Given the description of an element on the screen output the (x, y) to click on. 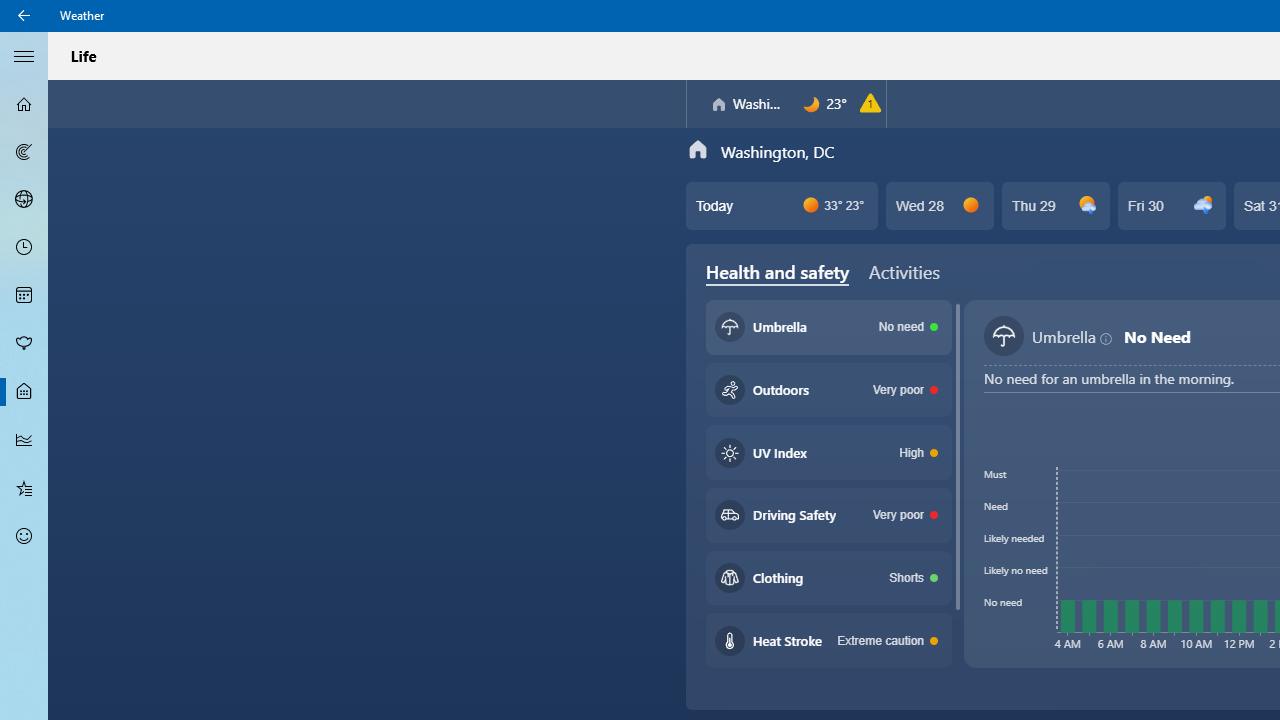
Life - Not Selected (24, 391)
Historical Weather - Not Selected (24, 439)
Favorites - Not Selected (24, 487)
Hourly Forecast - Not Selected (24, 247)
Pollen - Not Selected (24, 343)
Forecast - Not Selected (24, 103)
Pollen - Not Selected (24, 343)
Send Feedback - Not Selected (24, 535)
Collapse Navigation (24, 55)
Monthly Forecast - Not Selected (24, 295)
3D Maps - Not Selected (24, 199)
3D Maps - Not Selected (24, 199)
Send Feedback - Not Selected (24, 535)
Forecast - Not Selected (24, 103)
Life - Not Selected (24, 391)
